Given the description of an element on the screen output the (x, y) to click on. 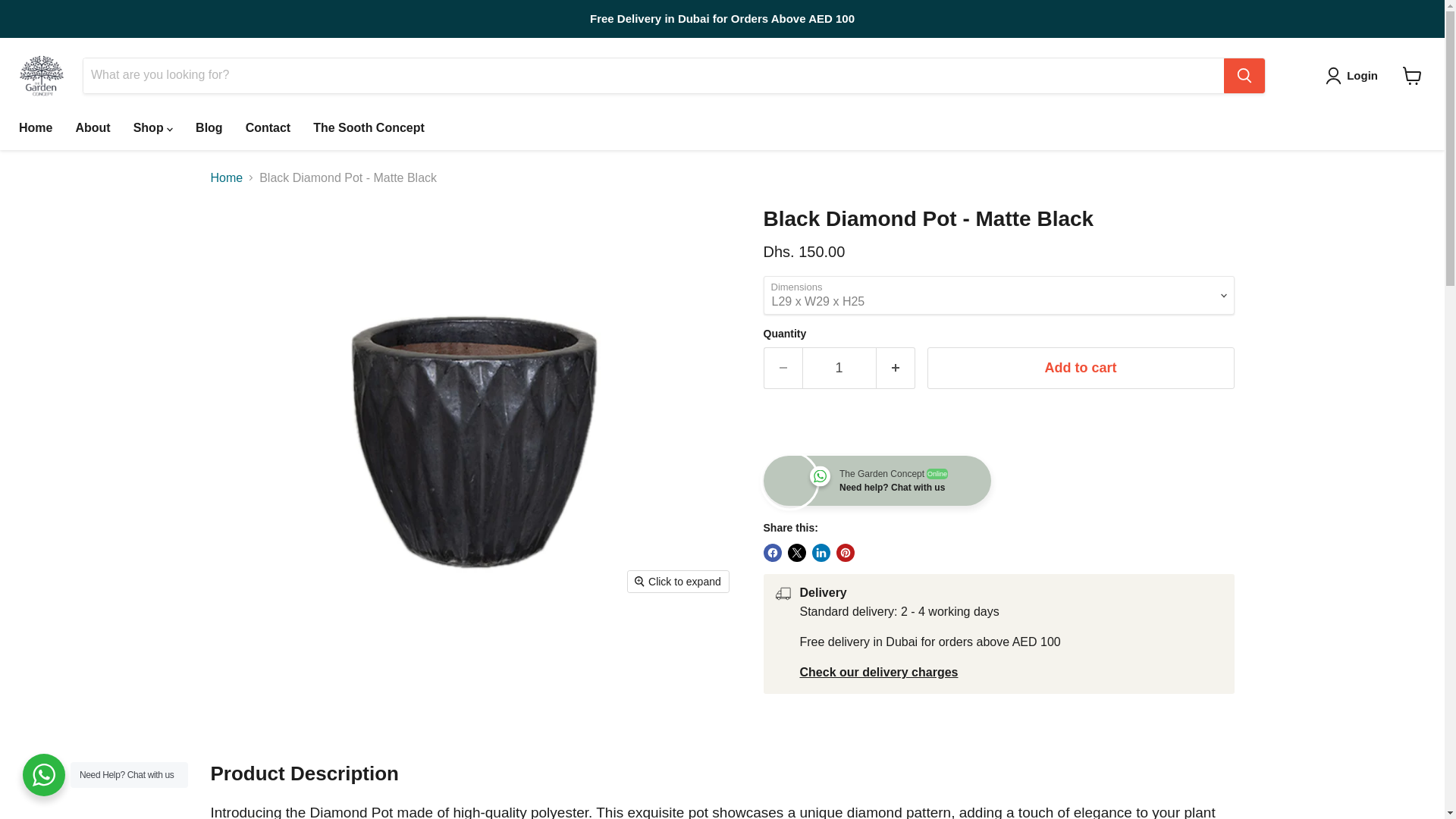
The Sooth Concept (368, 128)
1 (839, 368)
View cart (1411, 75)
Shipping Policy (878, 671)
Home (35, 128)
Contact (268, 128)
About (92, 128)
Blog (209, 128)
Login (1354, 75)
